Given the description of an element on the screen output the (x, y) to click on. 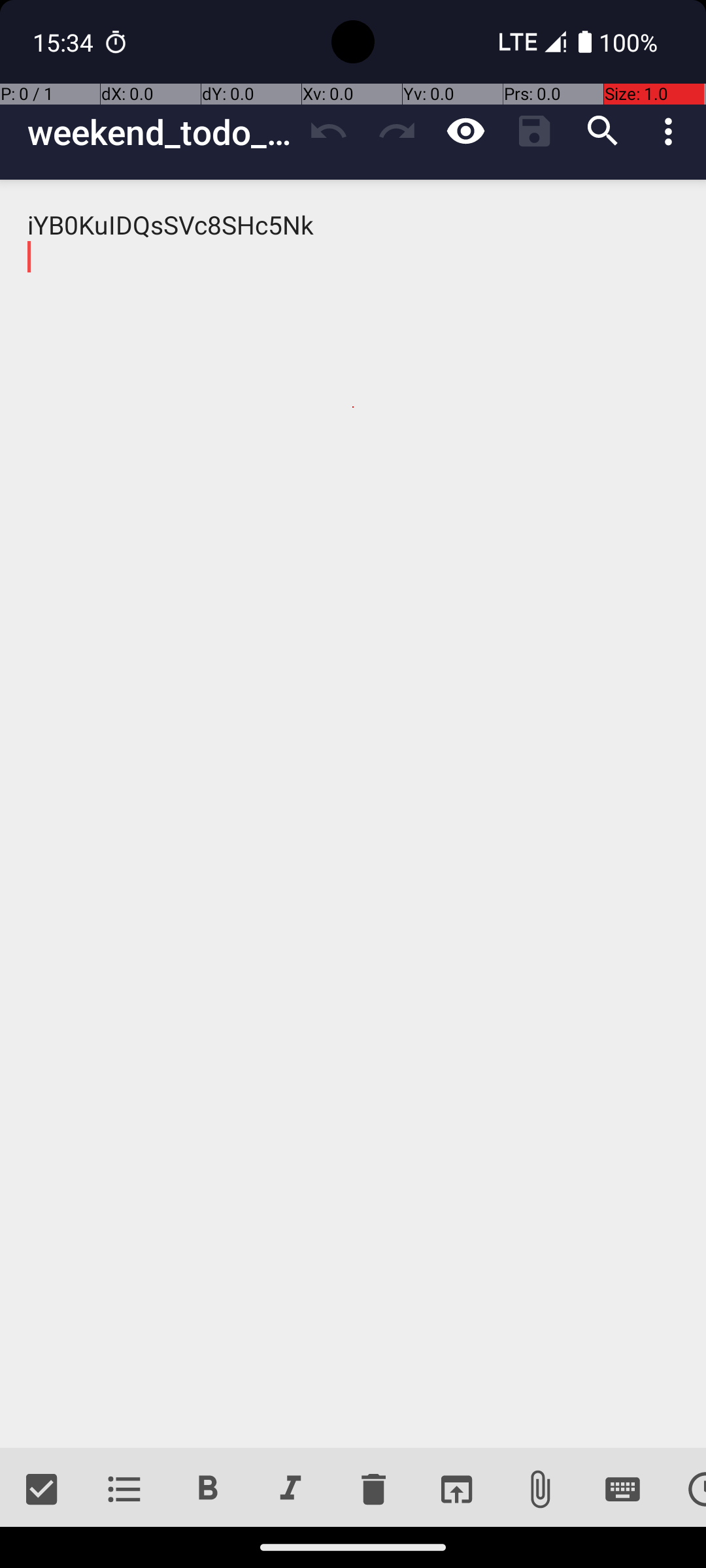
weekend_todo_list_copy Element type: android.widget.TextView (160, 131)
iYB0KuIDQsSVc8SHc5Nk
 Element type: android.widget.EditText (353, 813)
